Given the description of an element on the screen output the (x, y) to click on. 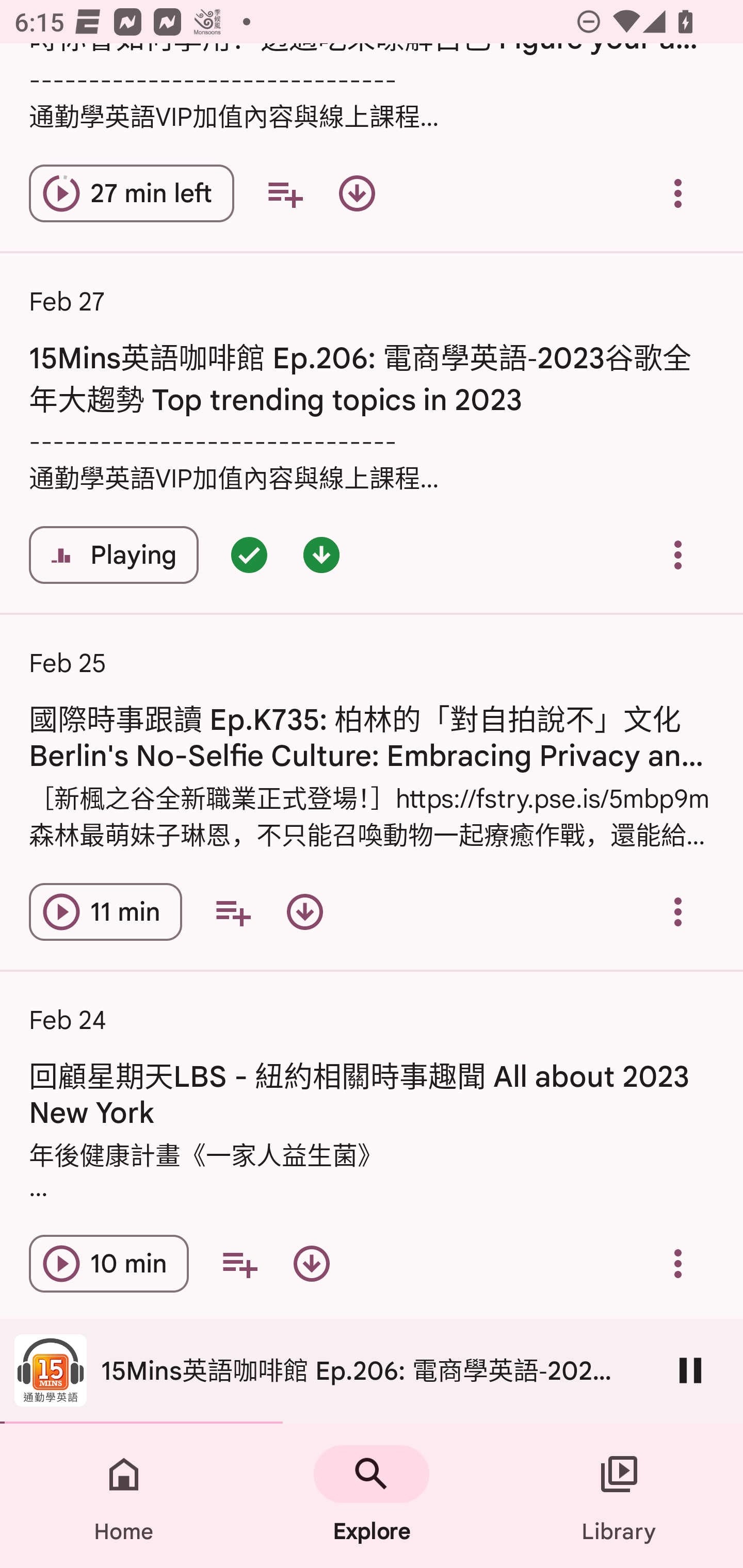
Add to your queue (284, 193)
Download episode (356, 193)
Overflow menu (677, 193)
Episode queued - double tap for options (249, 554)
Episode downloaded - double tap for options 0.0 (321, 554)
Overflow menu (677, 554)
Add to your queue (232, 911)
Download episode (304, 911)
Overflow menu (677, 911)
Add to your queue (239, 1263)
Download episode (311, 1263)
Overflow menu (677, 1263)
Pause (690, 1370)
Home (123, 1495)
Library (619, 1495)
